Given the description of an element on the screen output the (x, y) to click on. 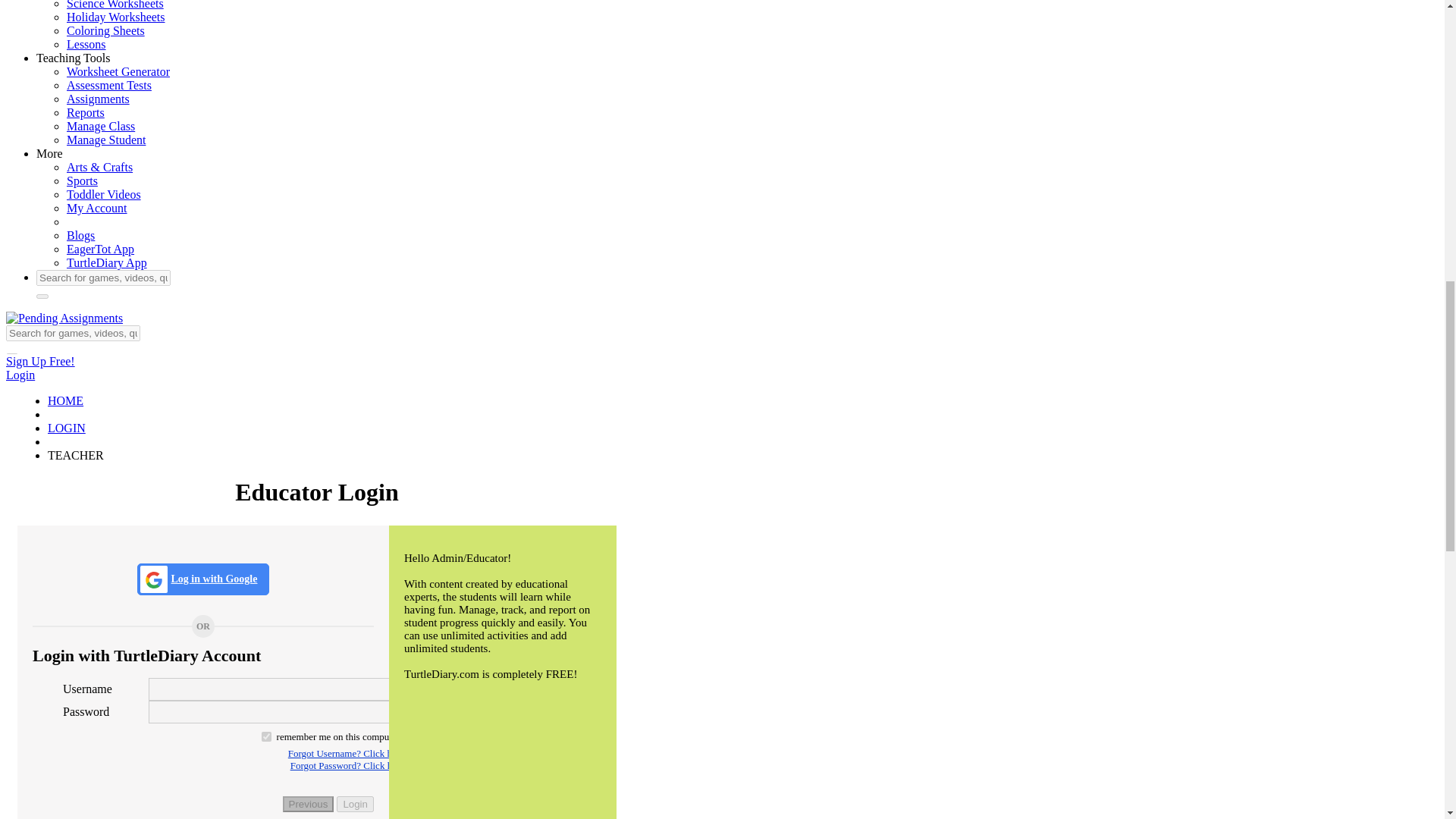
Forgot Password? (233, 766)
LOGIN (66, 427)
TEACHER (75, 454)
My Account (97, 207)
Assignments (97, 98)
Forgot Username (233, 719)
Blogs (80, 235)
TurtleDiary (106, 262)
1 (266, 737)
Turtle Diary (65, 400)
Pending Assignments (63, 318)
Reports (85, 112)
